Given the description of an element on the screen output the (x, y) to click on. 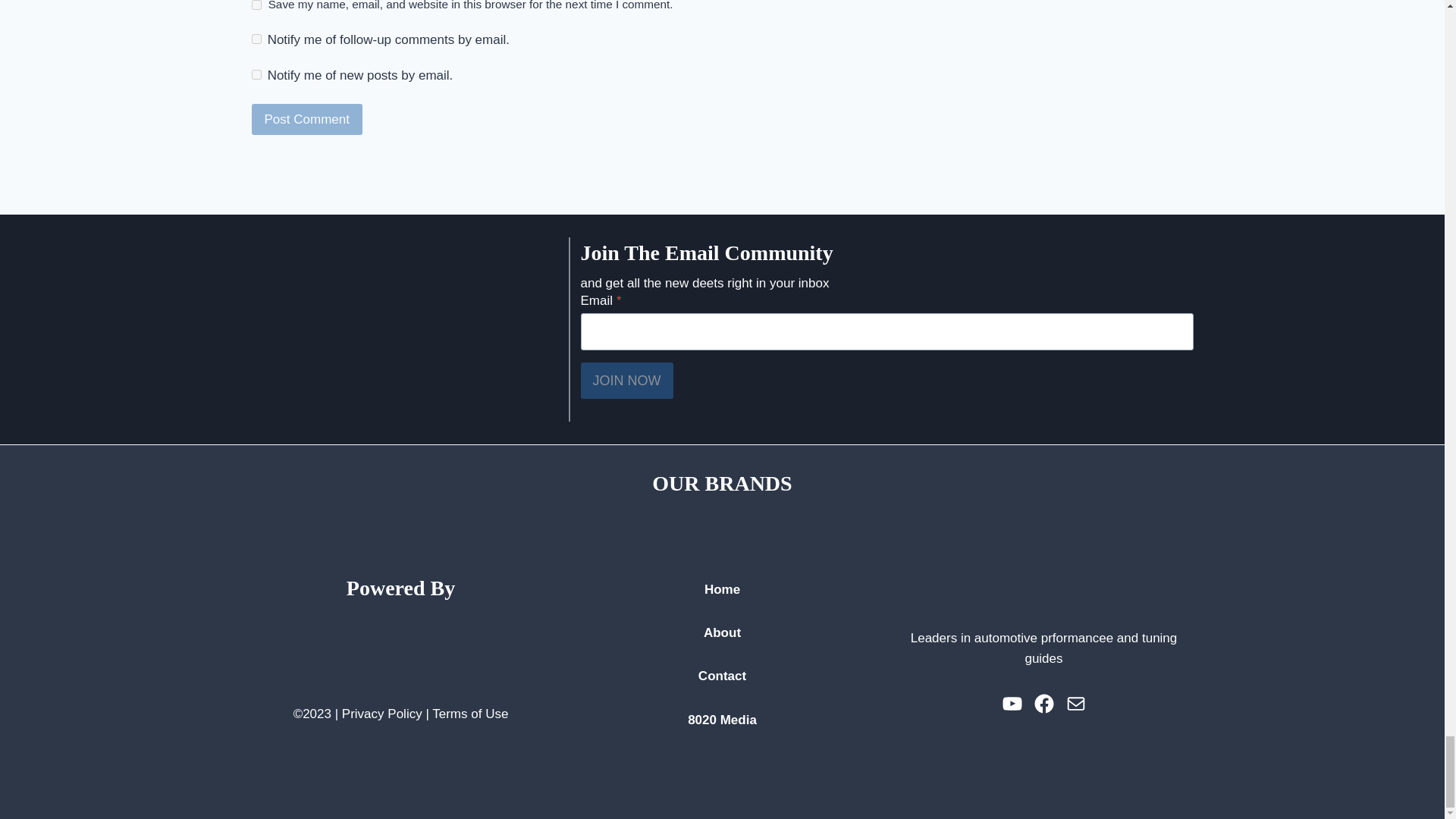
Post Comment (306, 119)
yes (256, 4)
subscribe (256, 74)
subscribe (256, 39)
